Given the description of an element on the screen output the (x, y) to click on. 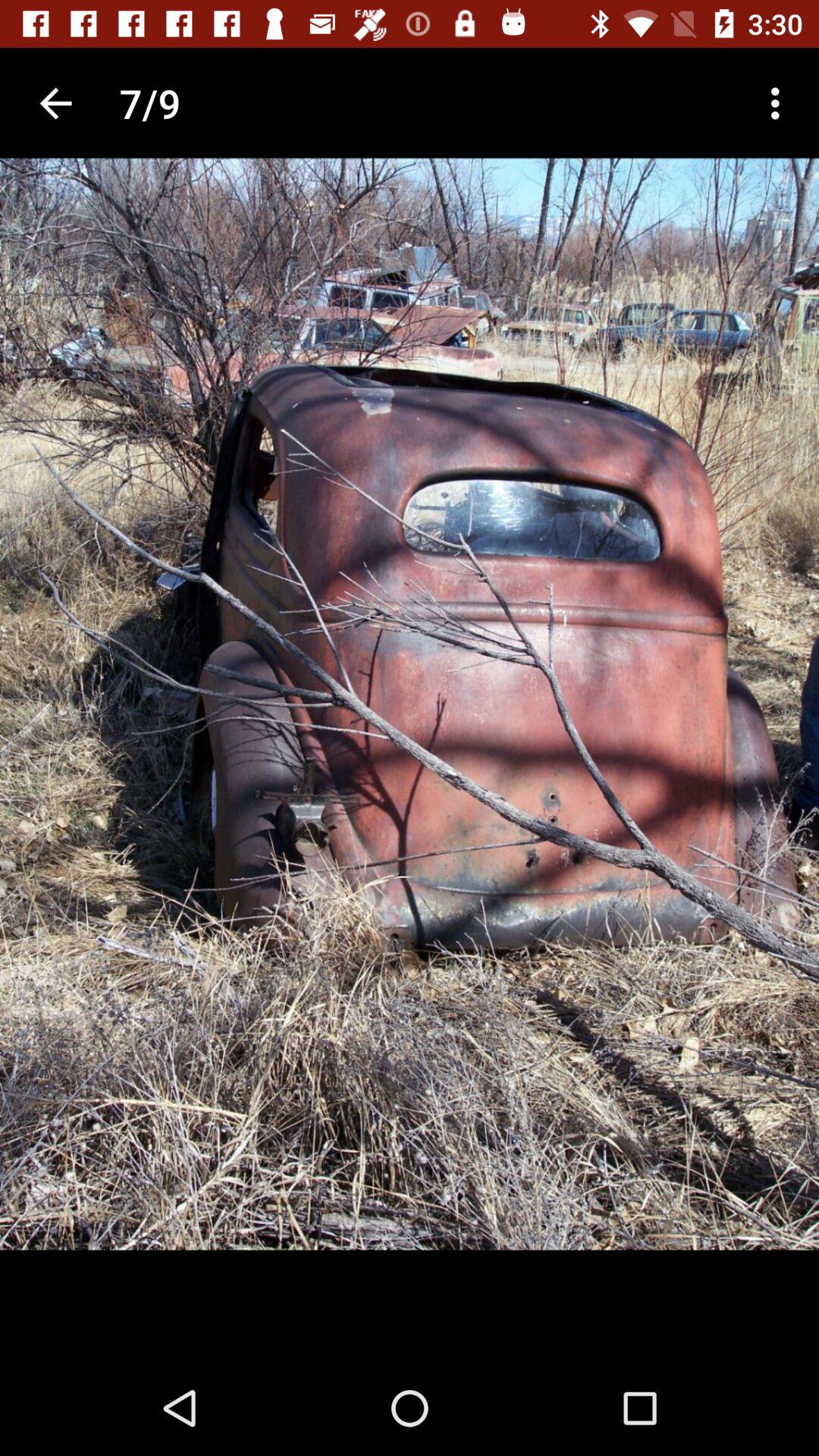
tap the app next to the 7/9 icon (779, 103)
